Given the description of an element on the screen output the (x, y) to click on. 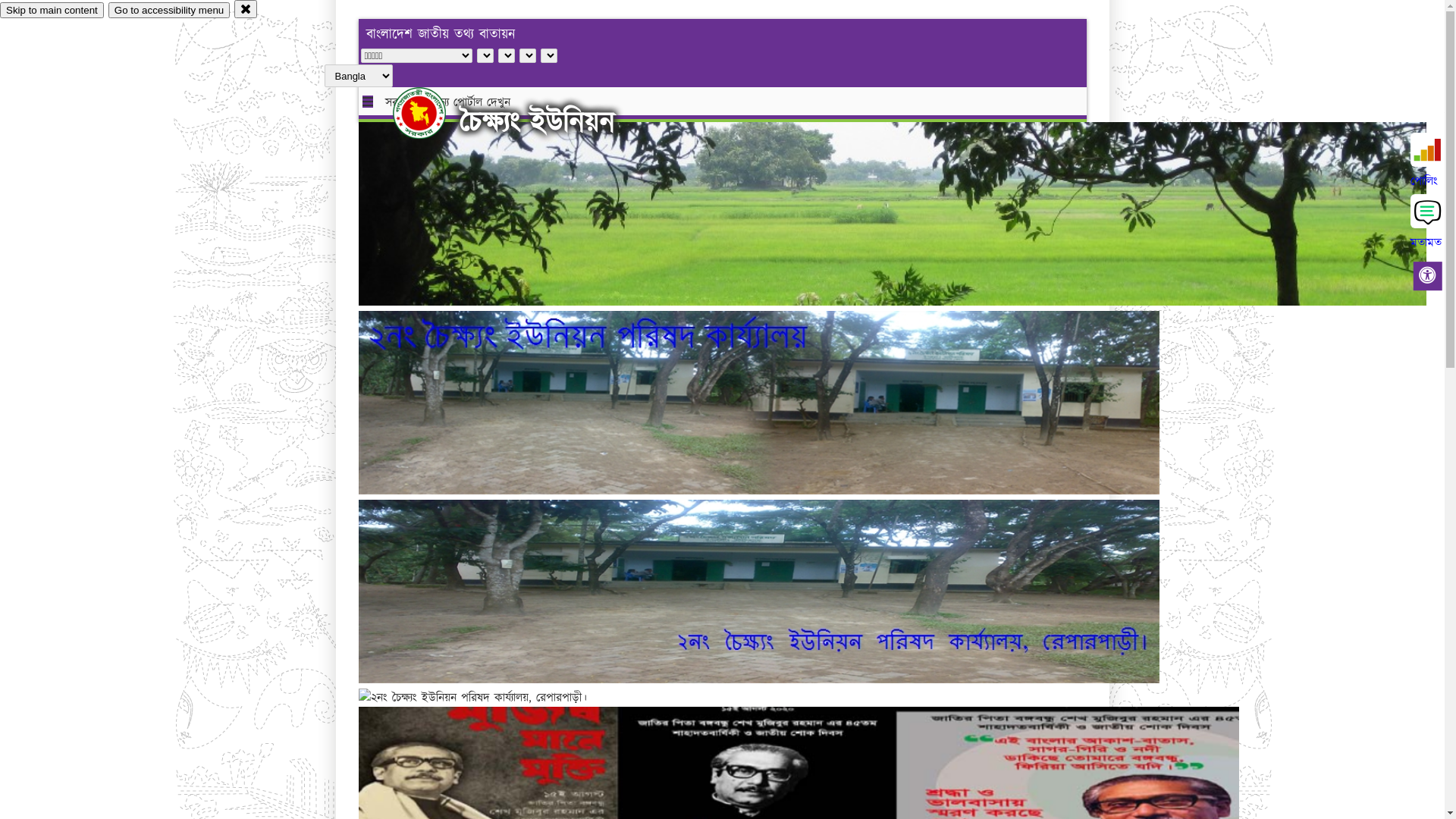
Skip to main content Element type: text (51, 10)
close Element type: hover (245, 9)

                
             Element type: hover (431, 112)
Go to accessibility menu Element type: text (168, 10)
